Given the description of an element on the screen output the (x, y) to click on. 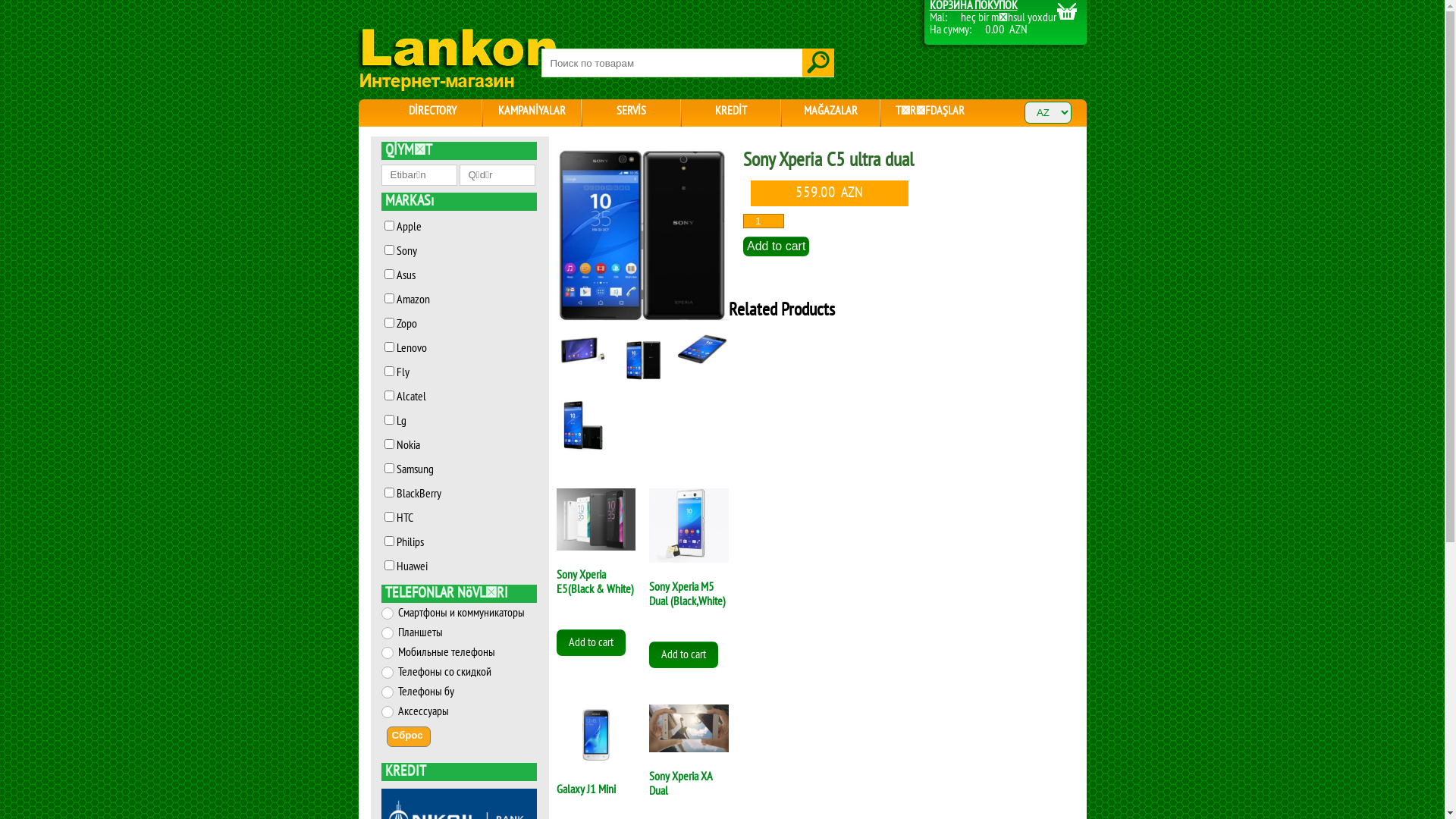
KAMPANIYALAR Element type: text (531, 109)
Qty Element type: hover (763, 220)
DIRECTORY Element type: text (432, 109)
4 Element type: hover (642, 235)
3 Element type: hover (641, 359)
Add to cart Element type: text (683, 654)
Add to cart Element type: text (590, 642)
1 Element type: hover (701, 348)
7 Element type: hover (582, 350)
Sony Xperia E5(Black & White)
269.00  AZN Element type: text (596, 567)
0.00  AZN Element type: text (1005, 30)
SERVIS Element type: text (631, 109)
2 Element type: hover (582, 424)
Shopakhundoff Element type: hover (455, 59)
Add to cart Element type: text (776, 246)
Sony Xperia M5 Dual (Black,White)
419.00  AZN Element type: text (688, 573)
Shopakhundoff Element type: hover (455, 87)
